Given the description of an element on the screen output the (x, y) to click on. 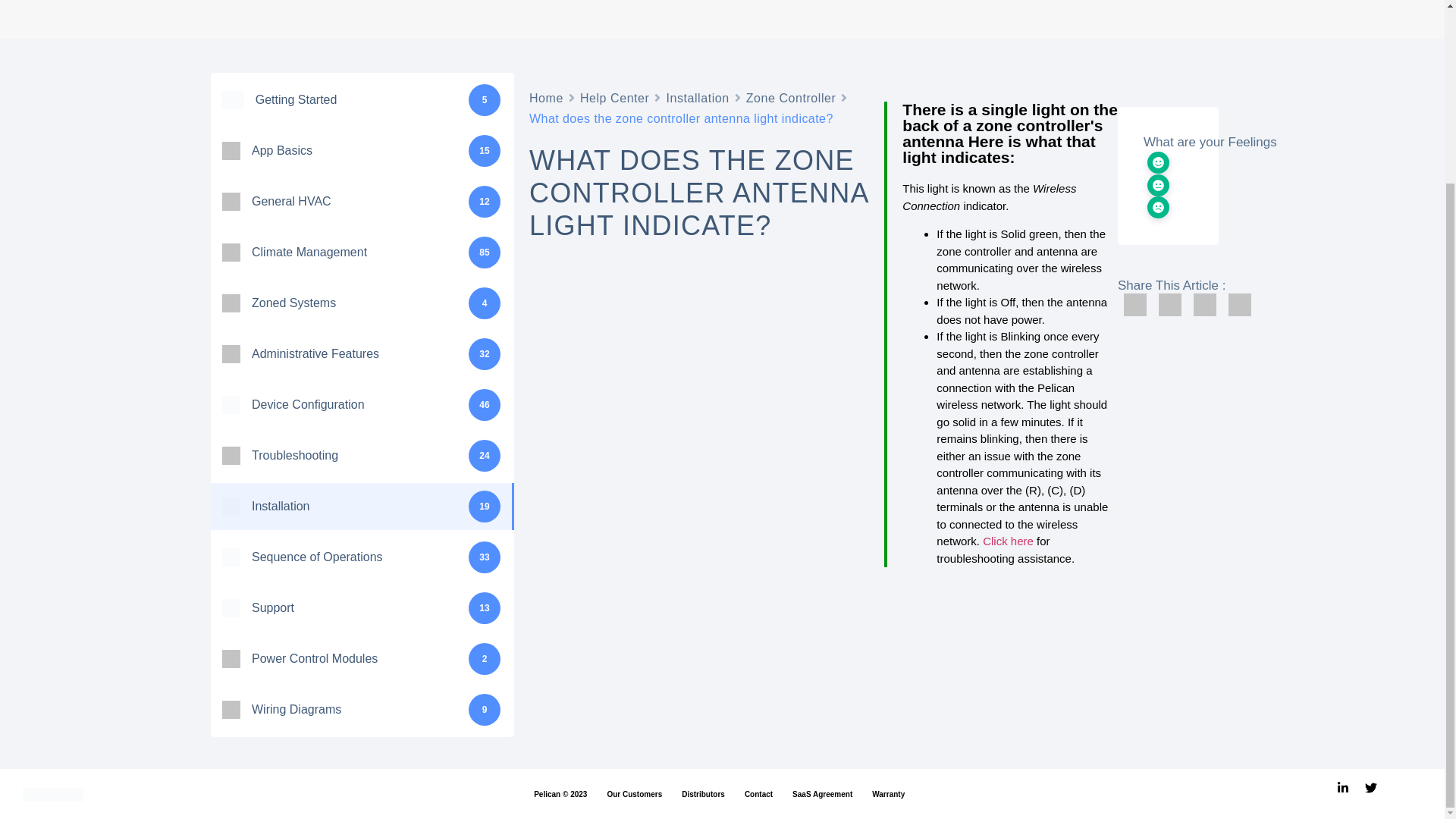
Home (546, 97)
Help Center (614, 97)
Zone Controller (790, 97)
Installation (697, 97)
